Given the description of an element on the screen output the (x, y) to click on. 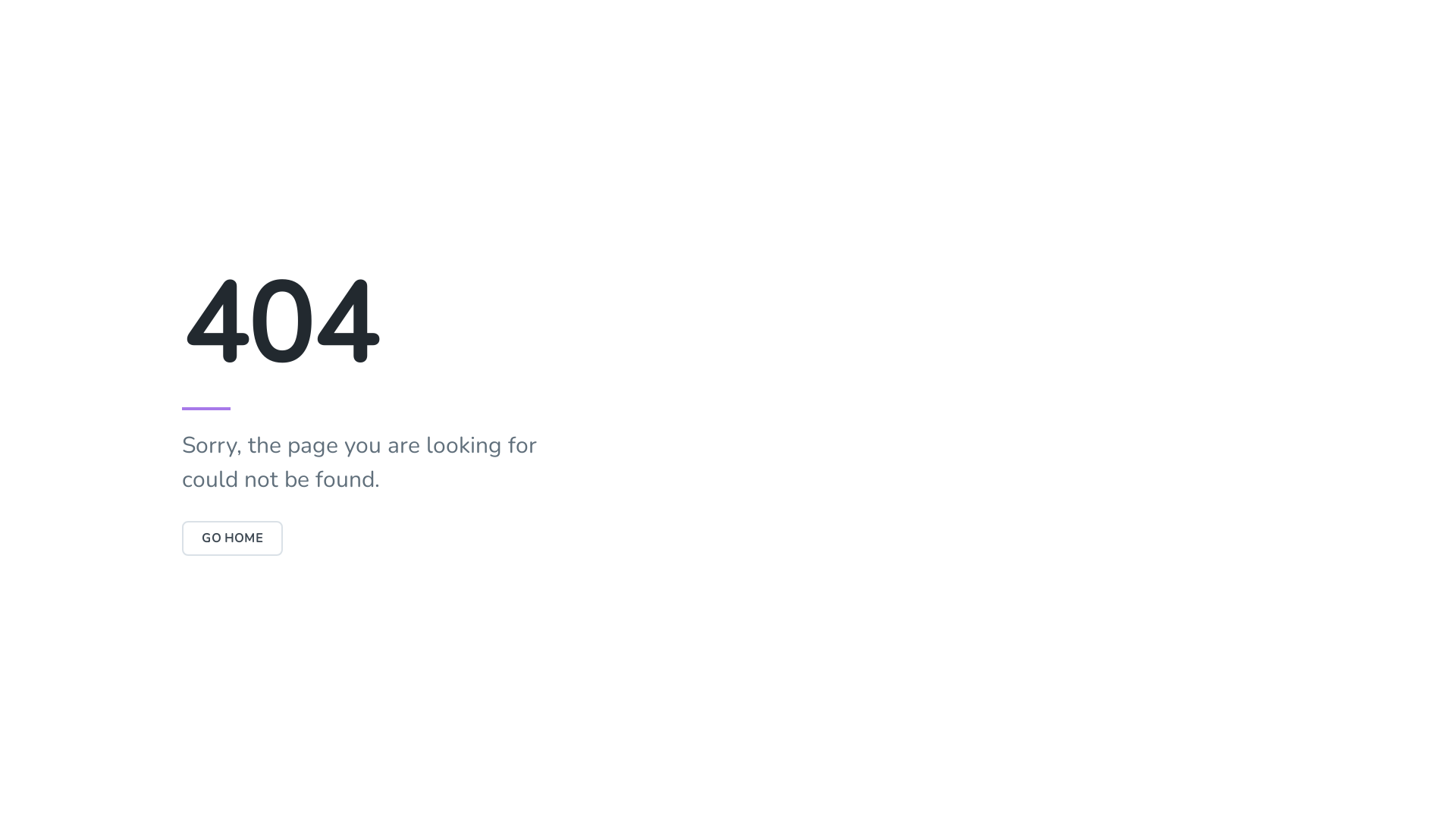
GO HOME Element type: text (232, 537)
GO HOME Element type: text (232, 538)
